Given the description of an element on the screen output the (x, y) to click on. 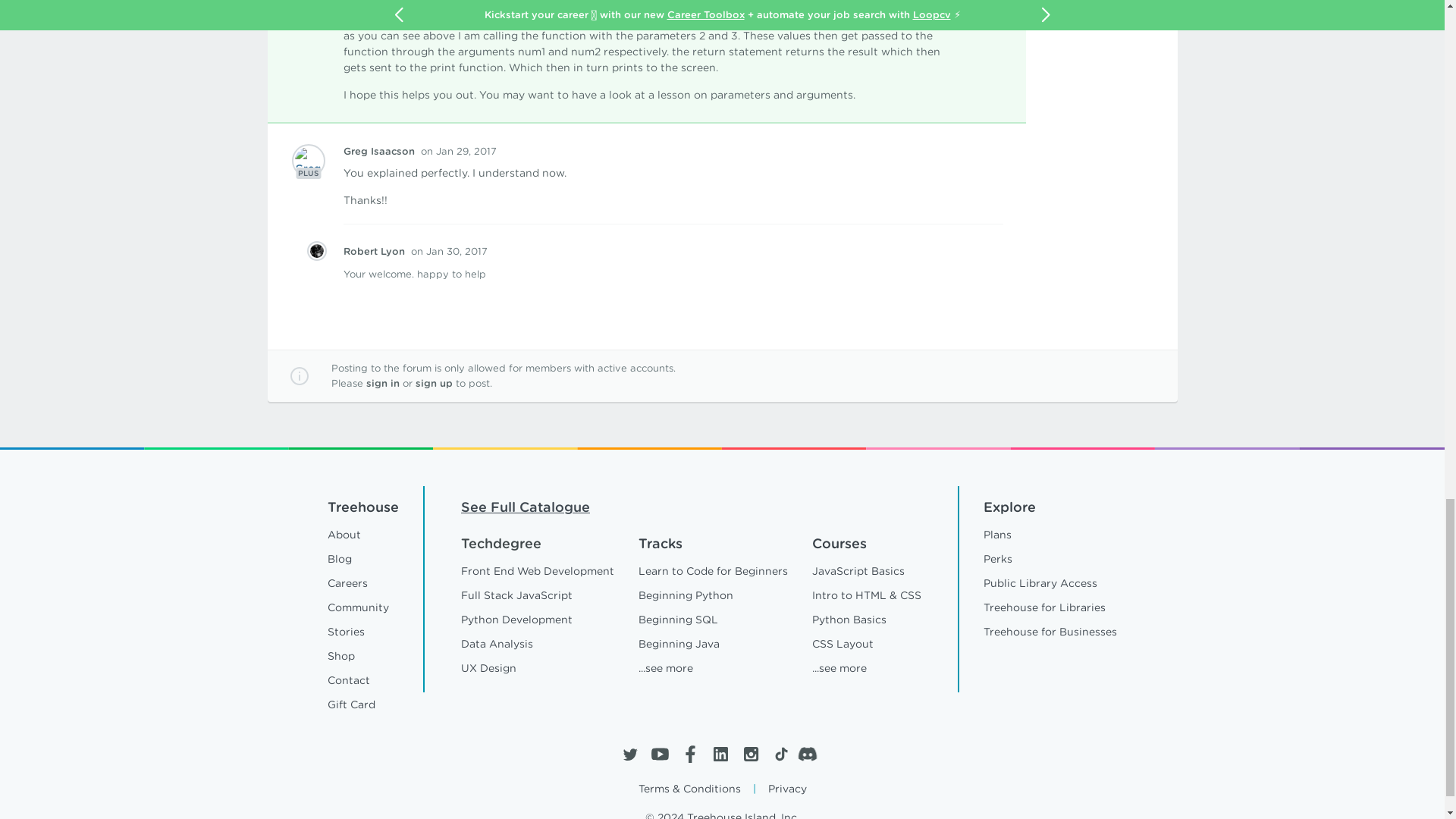
Facebook (690, 754)
January 29, 2017 at 11:58pm CST (458, 151)
Facebook (690, 754)
YouTube (659, 754)
LinkedIn (719, 754)
Discord (810, 754)
Instagram (749, 754)
January 30, 2017 at 12:01am CST (448, 251)
Twitter (628, 754)
Instagram (749, 754)
LinkedIn (719, 754)
TikTok (780, 754)
Twitter (628, 754)
YouTube (659, 754)
